Given the description of an element on the screen output the (x, y) to click on. 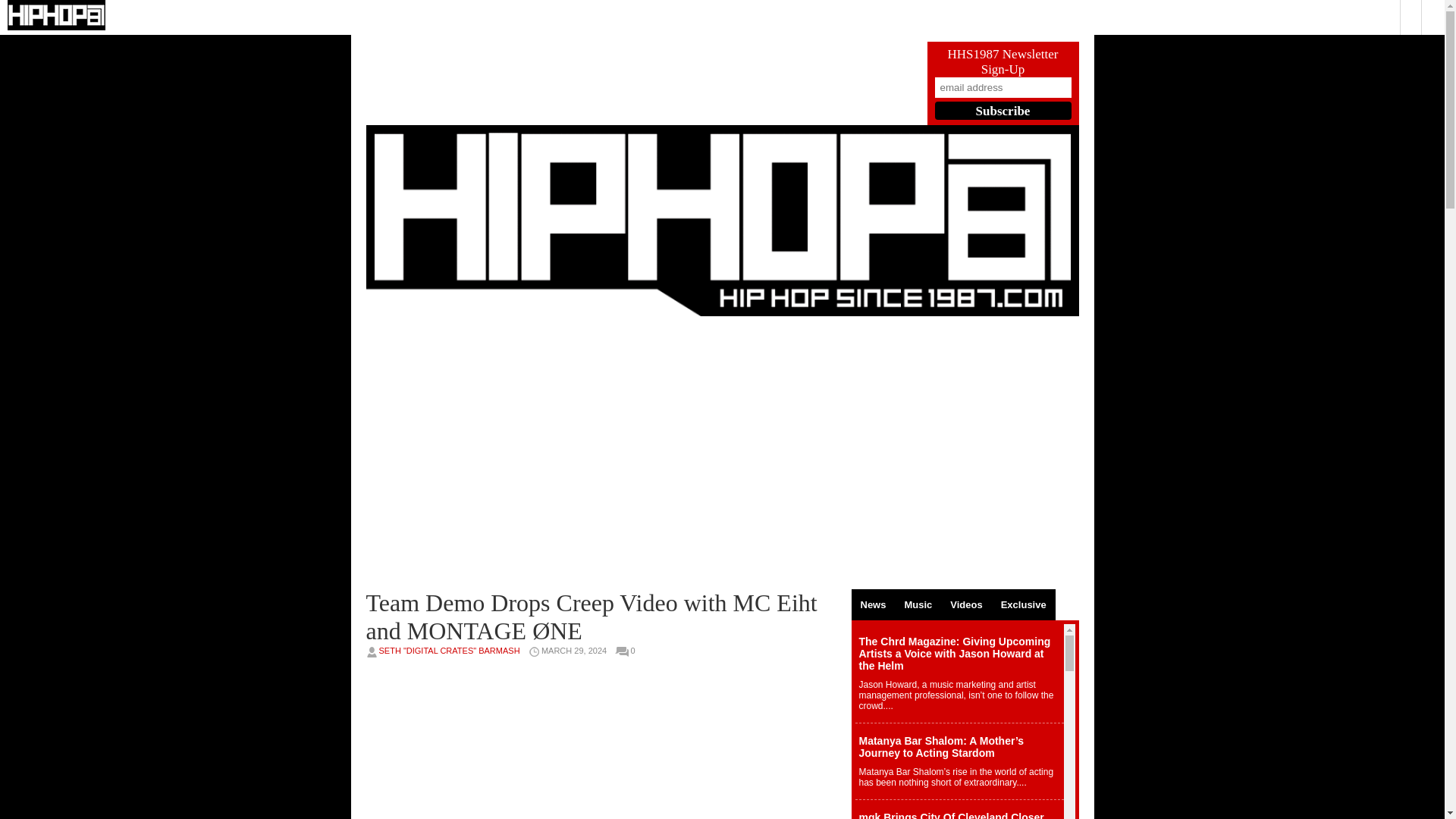
SETH "DIGITAL CRATES" BARMASH (448, 650)
Subscribe (1002, 110)
Subscribe (1002, 110)
Posts by Seth "Digital Crates" Barmash (448, 650)
0 (635, 650)
YouTube video player (600, 451)
